Given the description of an element on the screen output the (x, y) to click on. 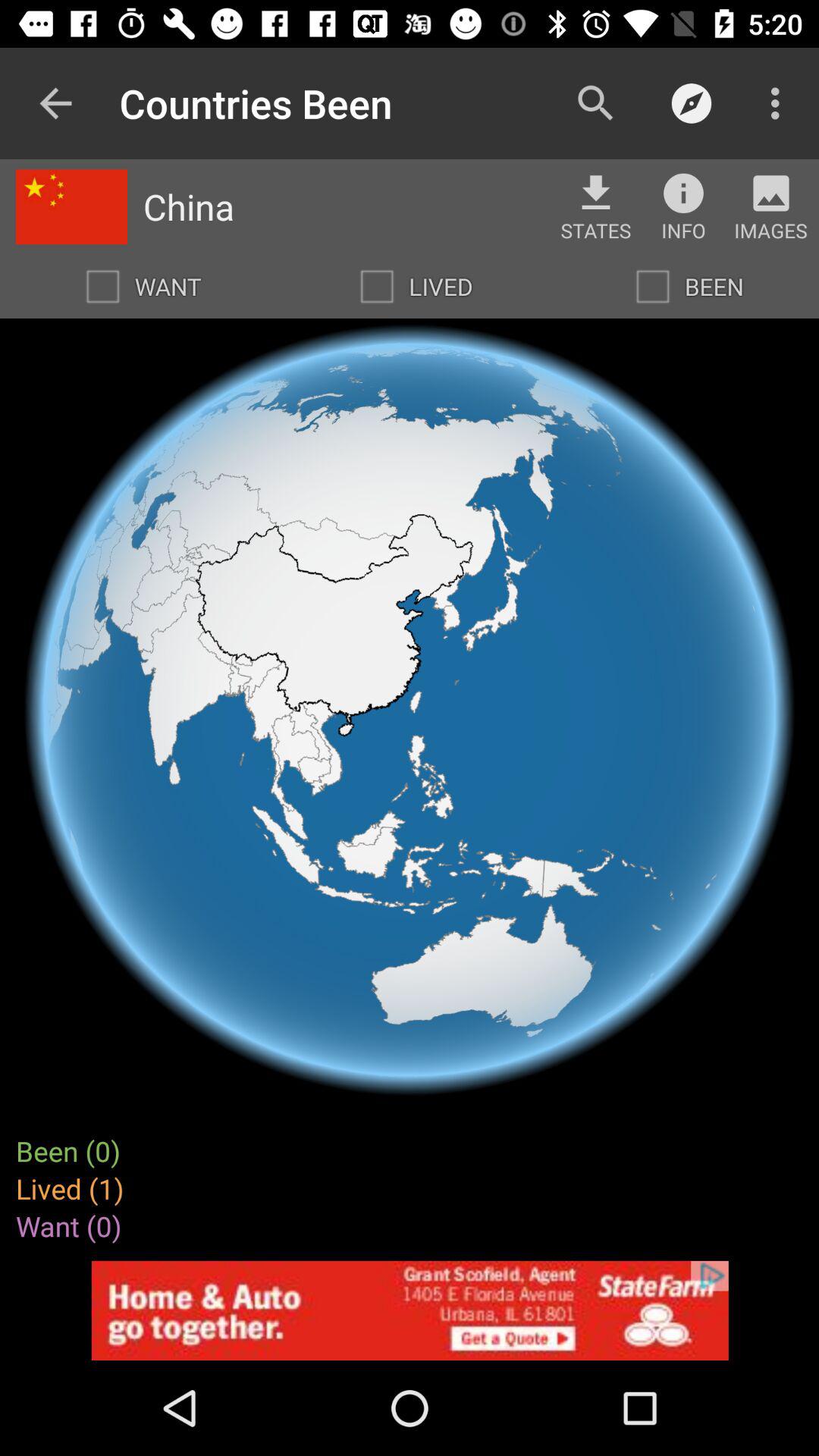
view images (771, 193)
